Given the description of an element on the screen output the (x, y) to click on. 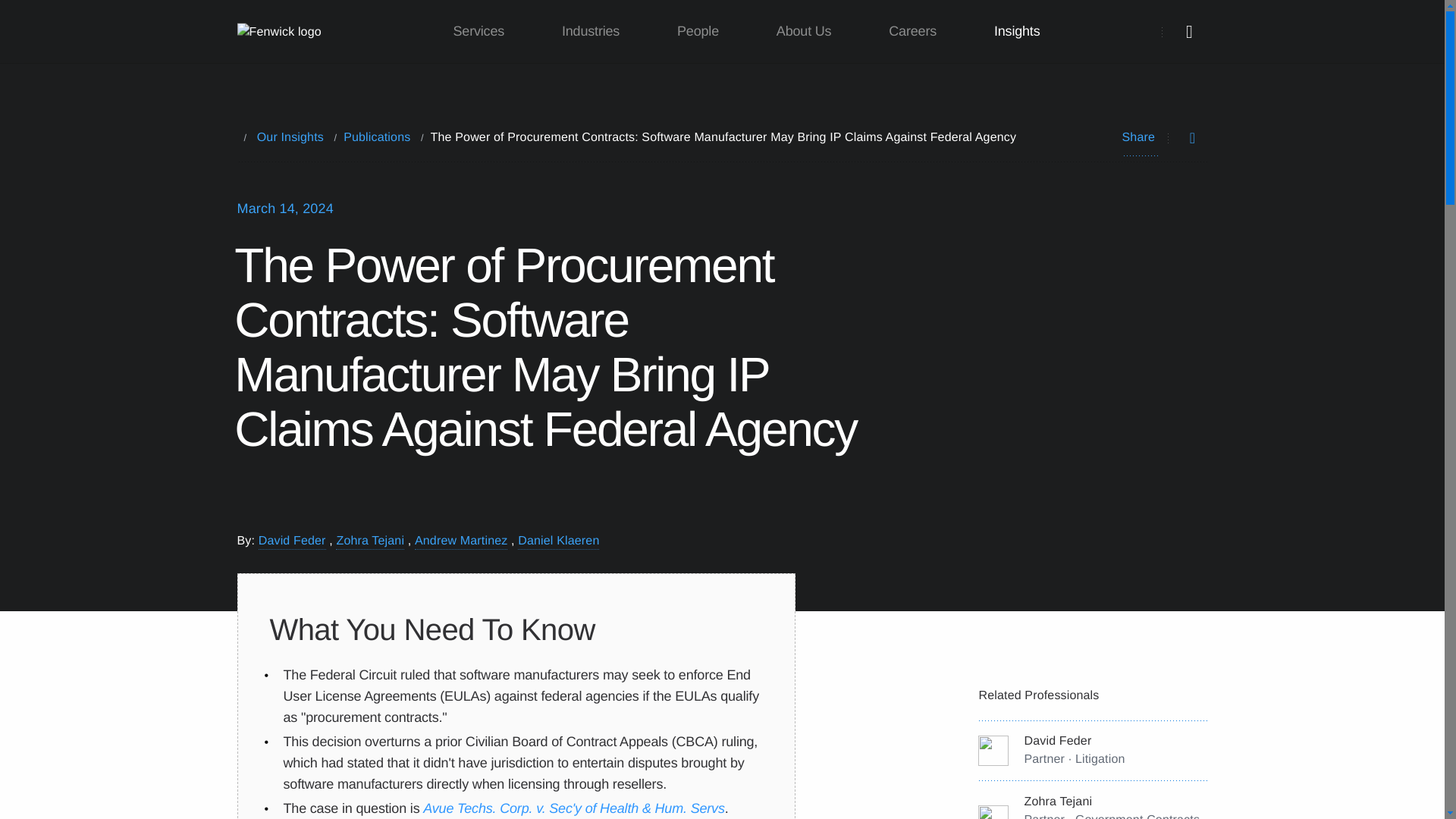
Services (478, 31)
search icon (1188, 31)
